Given the description of an element on the screen output the (x, y) to click on. 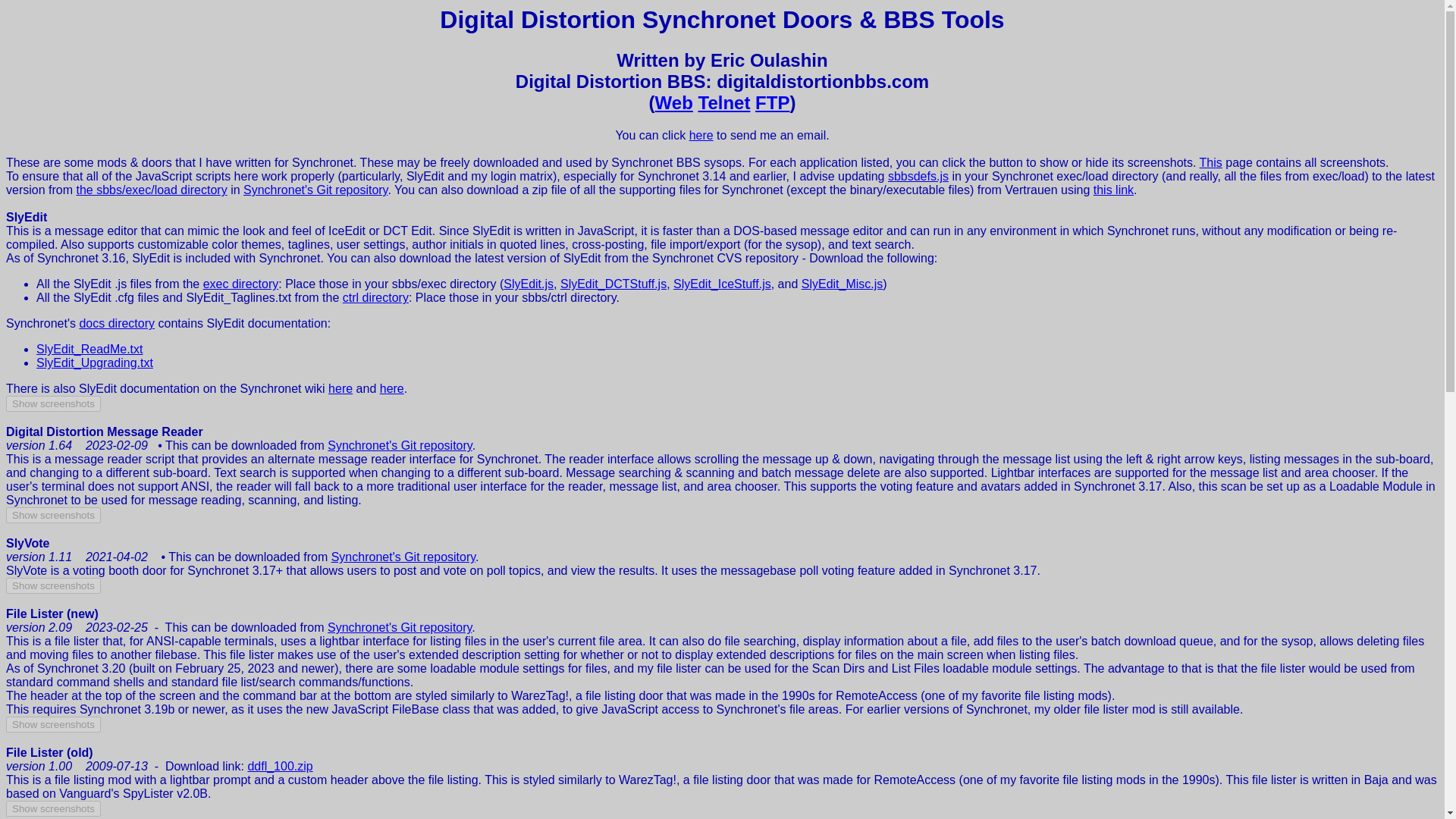
This (1211, 162)
Show screenshots (52, 514)
ctrl directory (375, 297)
FTP (772, 102)
Show screenshots (52, 724)
Web (674, 102)
Synchronet's Git repository (399, 445)
exec directory (241, 283)
docs directory (116, 323)
Show screenshots (52, 585)
